Given the description of an element on the screen output the (x, y) to click on. 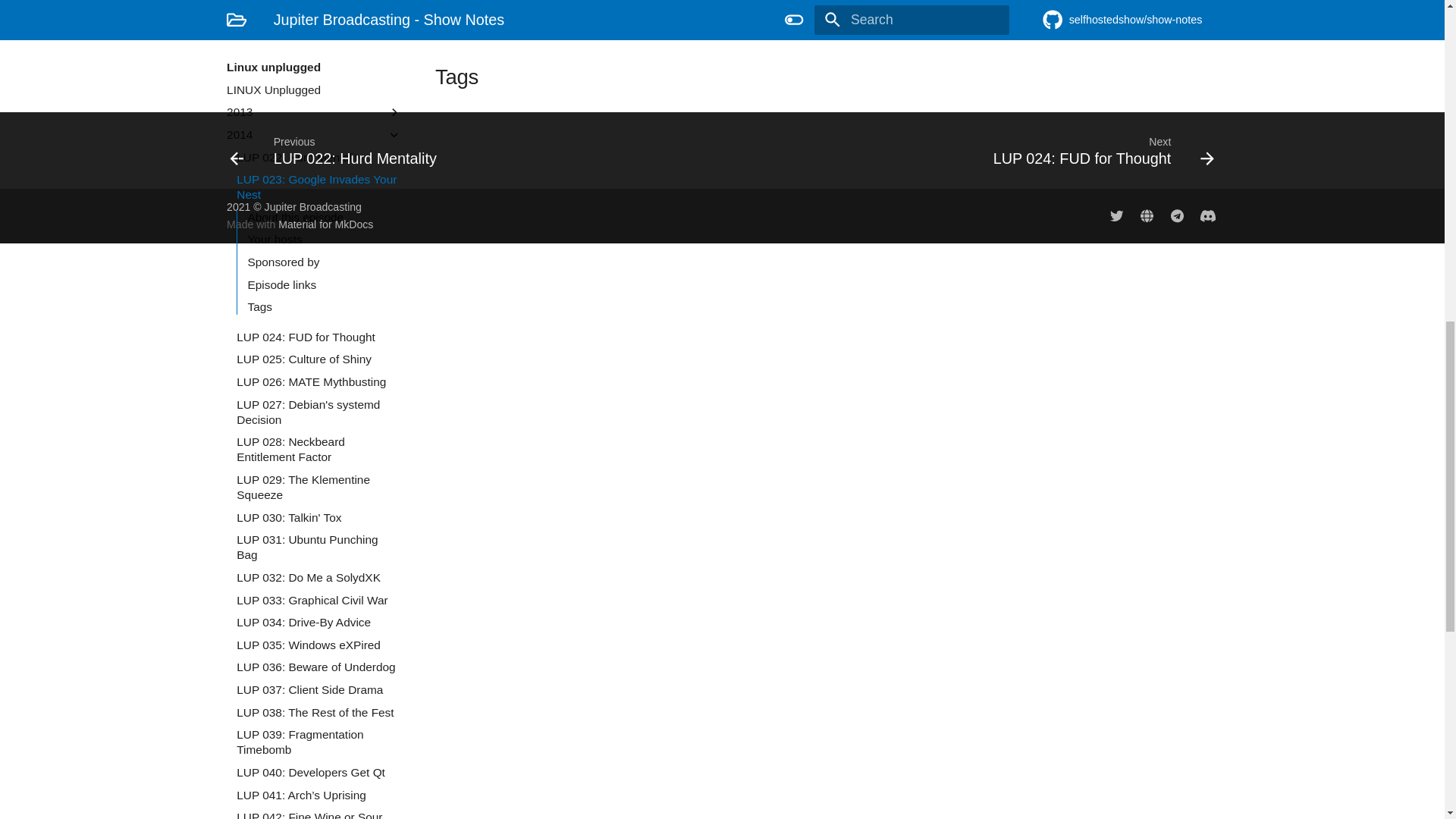
Website (1147, 215)
Telegram (1177, 215)
Self-Hosted Discord (1207, 215)
Twitter (1116, 215)
